Given the description of an element on the screen output the (x, y) to click on. 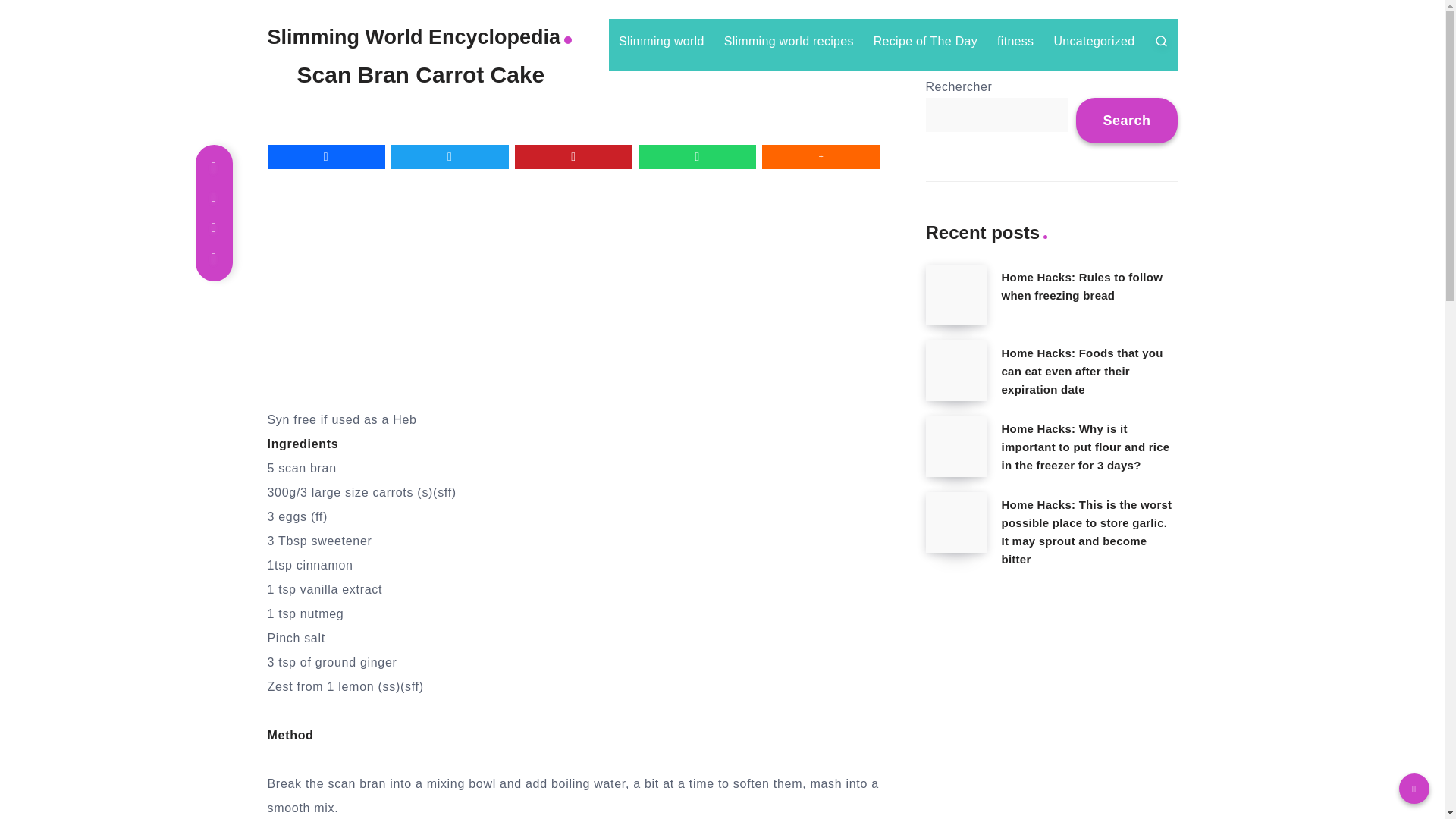
Tweet this ! (449, 156)
Slimming world (661, 41)
Slimming world recipes (788, 41)
Submit this to Pinterest (573, 156)
Recipe of The Day (924, 41)
Slimming World Encyclopedia (420, 37)
Uncategorized (1093, 41)
fitness (1015, 41)
Share this on Facebook (325, 156)
More share links (820, 156)
WhatsApp (697, 156)
